Given the description of an element on the screen output the (x, y) to click on. 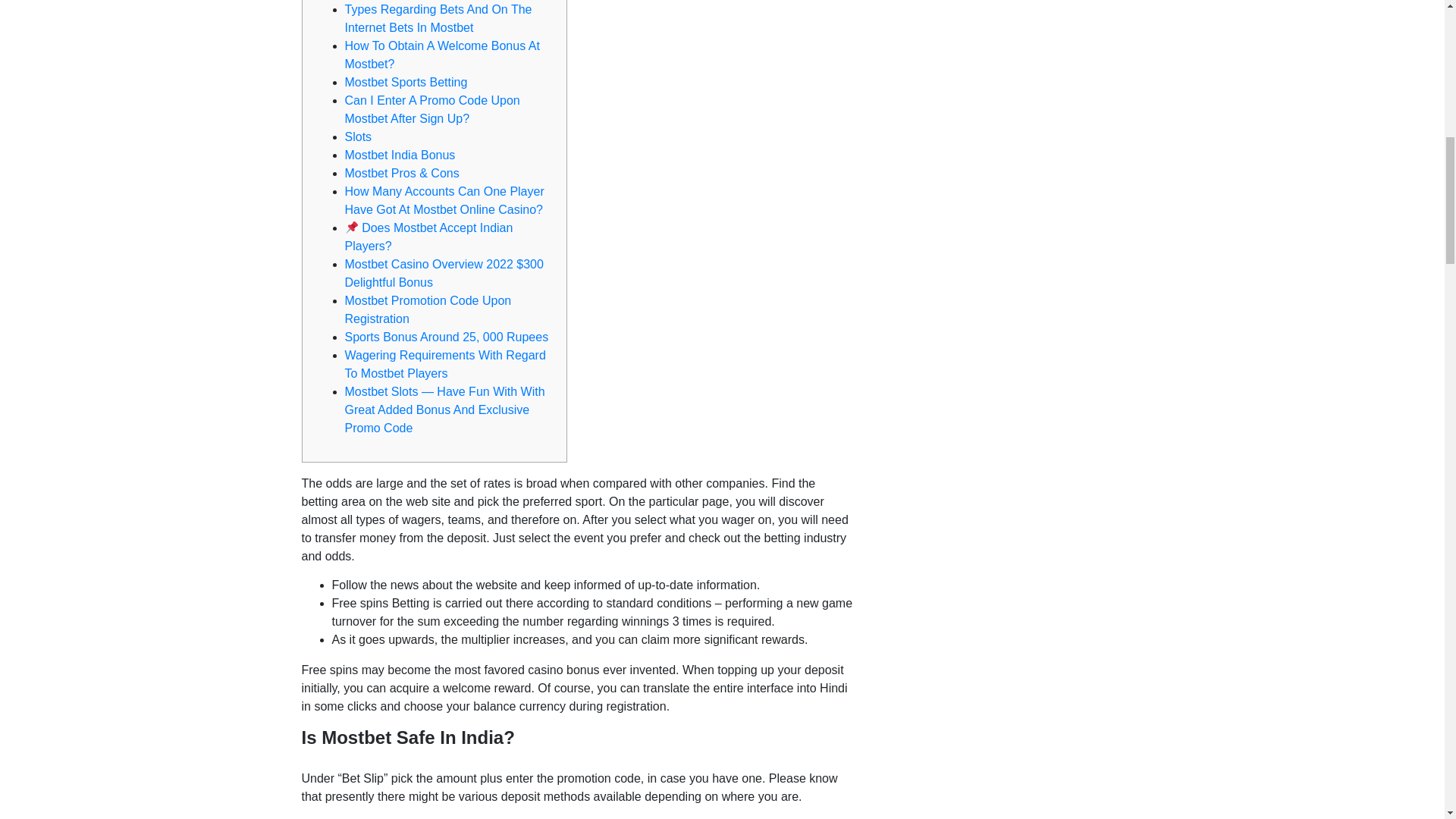
Does Mostbet Accept Indian Players? (427, 236)
Types Regarding Bets And On The Internet Bets In Mostbet (437, 18)
How To Obtain A Welcome Bonus At Mostbet? (440, 54)
Mostbet India Bonus (398, 154)
Slots (357, 136)
Can I Enter A Promo Code Upon Mostbet After Sign Up? (431, 109)
Mostbet Sports Betting (405, 82)
